Given the description of an element on the screen output the (x, y) to click on. 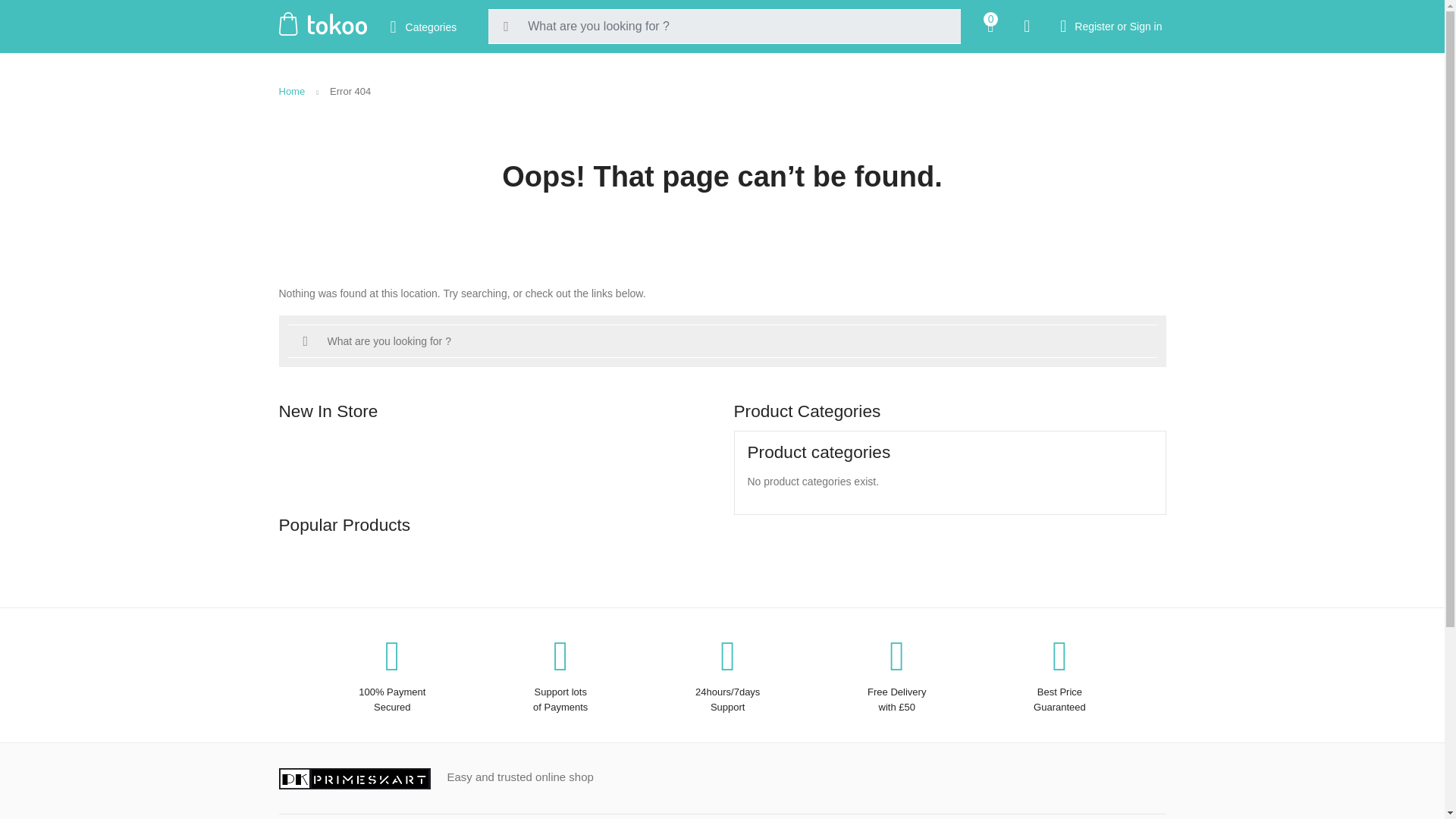
Register or Sign in (1110, 26)
Easy and trusted online shop (436, 777)
Home (292, 91)
Categories (427, 26)
Search (17, 12)
